Given the description of an element on the screen output the (x, y) to click on. 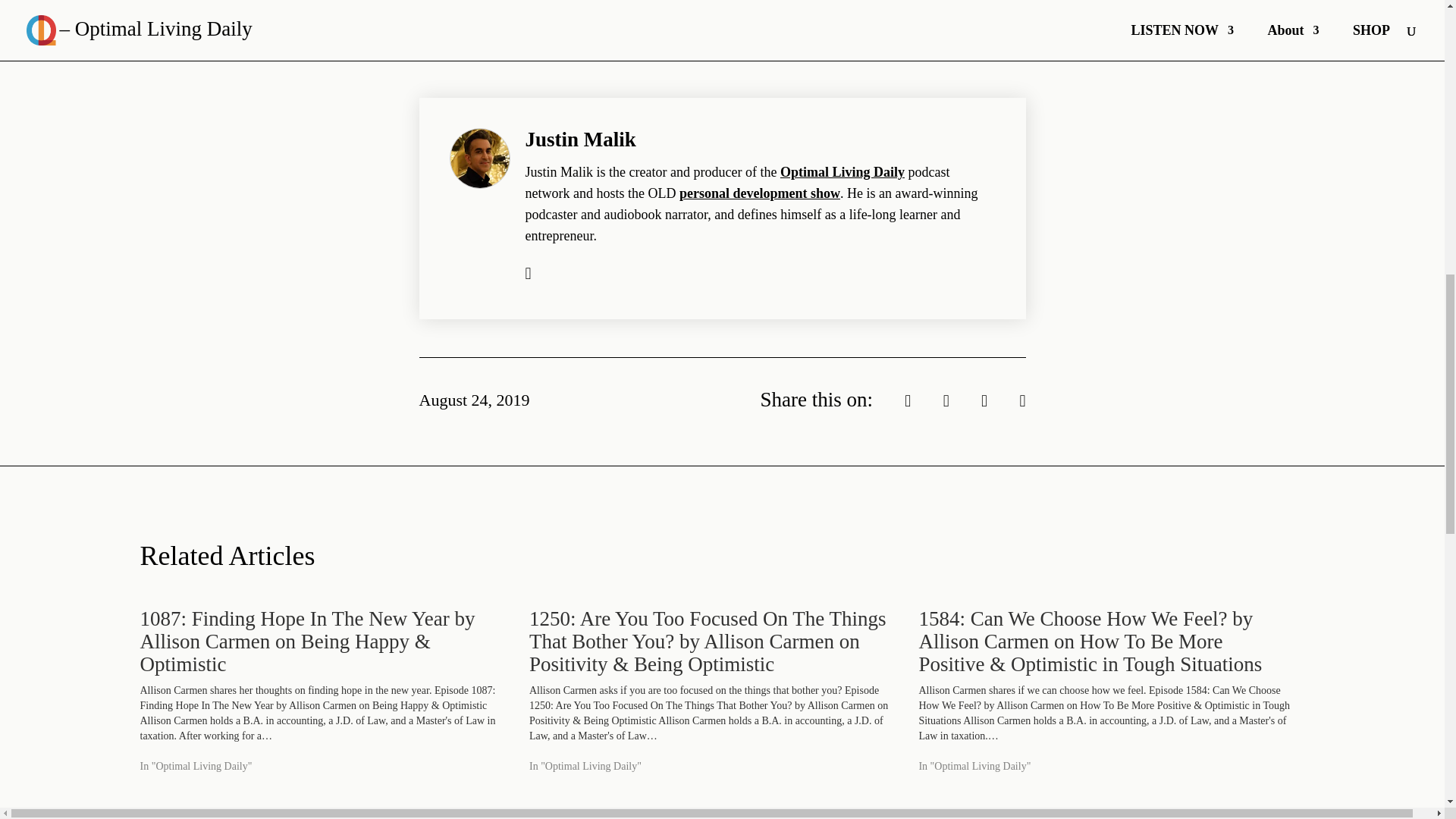
personal development show (759, 192)
Share on Twitter (907, 399)
Justin Malik (579, 138)
Share via email (1022, 399)
Share on Facebook (946, 399)
Optimal Living Daily (842, 171)
